Given the description of an element on the screen output the (x, y) to click on. 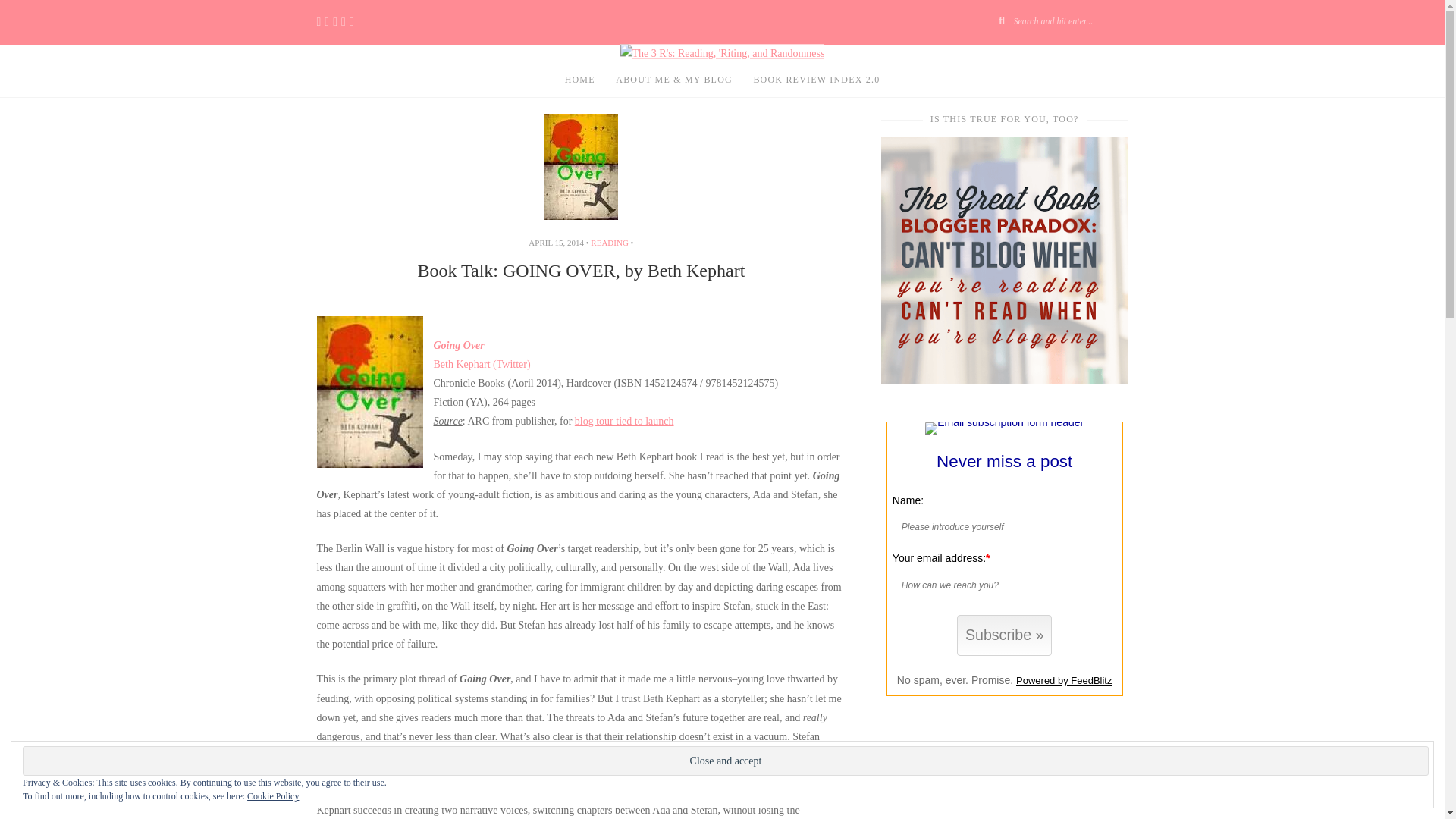
THE 3 R'S: READING, 'RITING, AND RANDOMNESS (730, 127)
READING (609, 242)
Cookie Policy (272, 796)
How can we reach you? (1000, 584)
blog tour tied to launch (624, 420)
Search (1141, 17)
Beth Kephart (461, 364)
click to join (1003, 635)
Going Over (458, 345)
Please introduce yourself (1000, 526)
Close and accept (725, 760)
HOME (580, 80)
Search (1141, 17)
Close and accept (725, 760)
BOOK REVIEW INDEX 2.0 (816, 80)
